Given the description of an element on the screen output the (x, y) to click on. 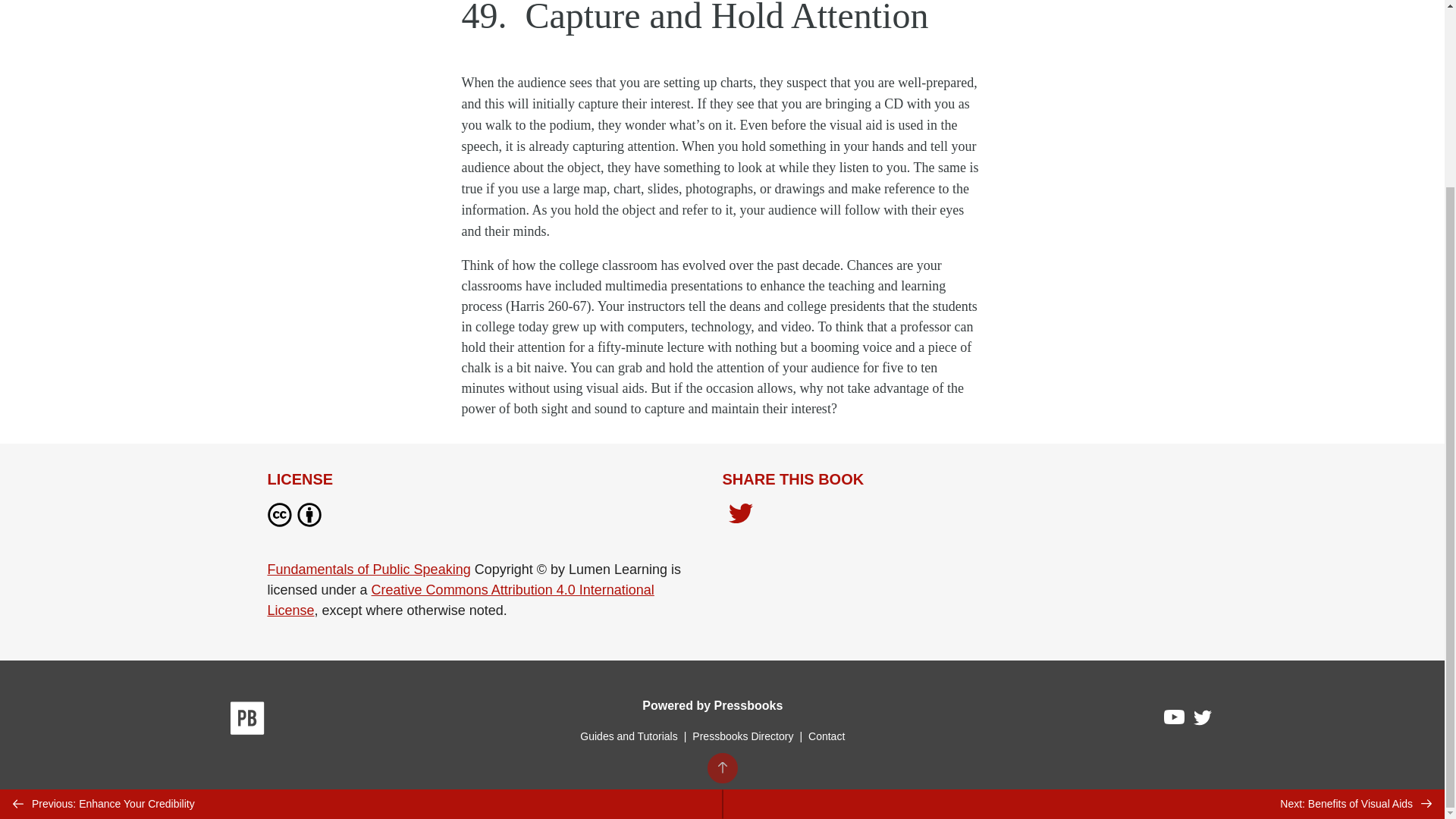
Contact (826, 736)
Share on Twitter (740, 517)
Pressbooks Directory (742, 736)
Powered by Pressbooks (712, 705)
Share on Twitter (740, 514)
Guides and Tutorials (627, 736)
Previous: Enhance Your Credibility (361, 572)
Previous: Enhance Your Credibility (361, 572)
Creative Commons Attribution 4.0 International License (459, 600)
Pressbooks on YouTube (1174, 721)
